Given the description of an element on the screen output the (x, y) to click on. 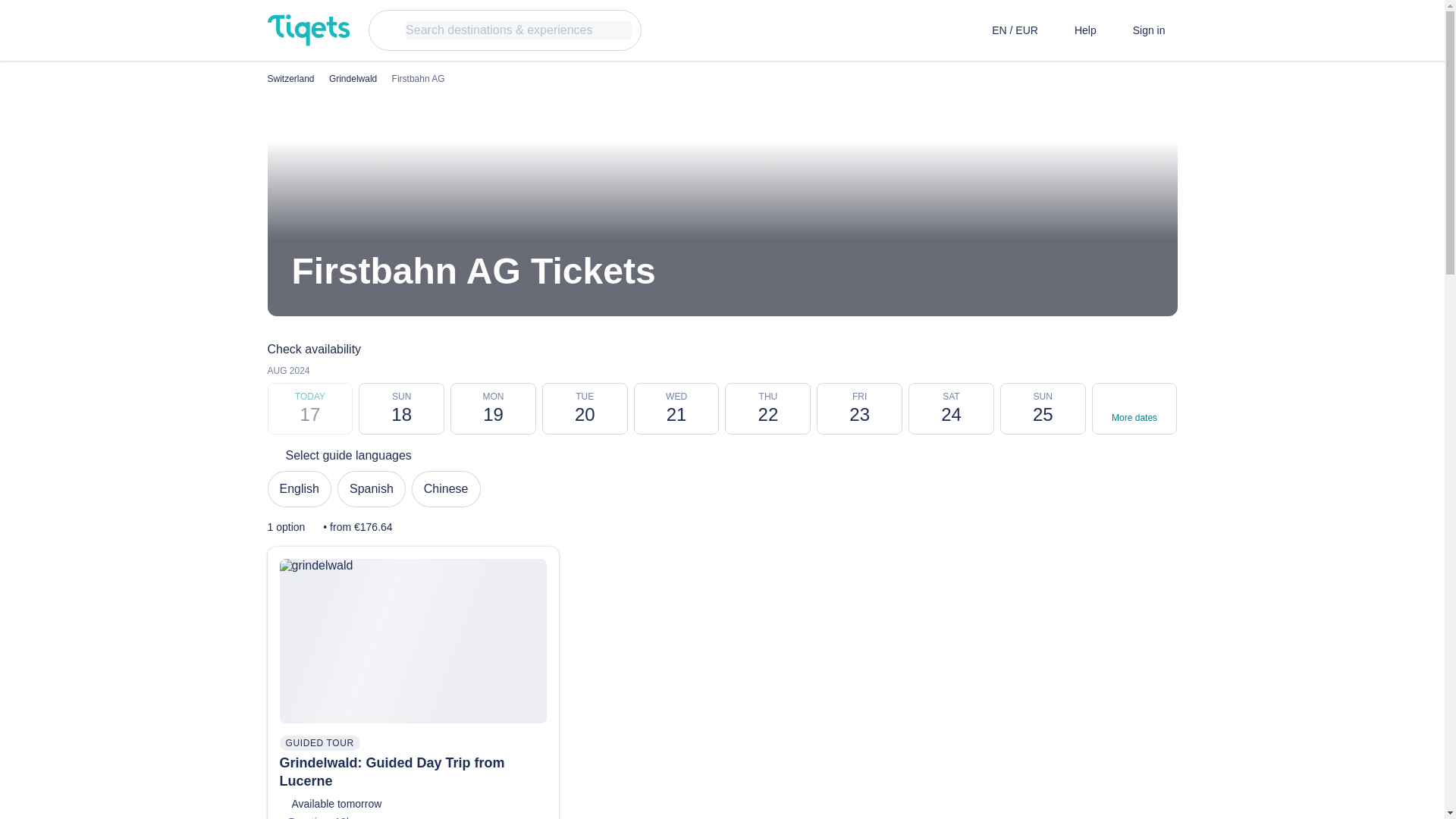
More dates (1134, 408)
Grindelwald: Guided Day Trip from Lucerne (391, 771)
English (401, 408)
Switzerland (676, 408)
Sign in (298, 488)
